Given the description of an element on the screen output the (x, y) to click on. 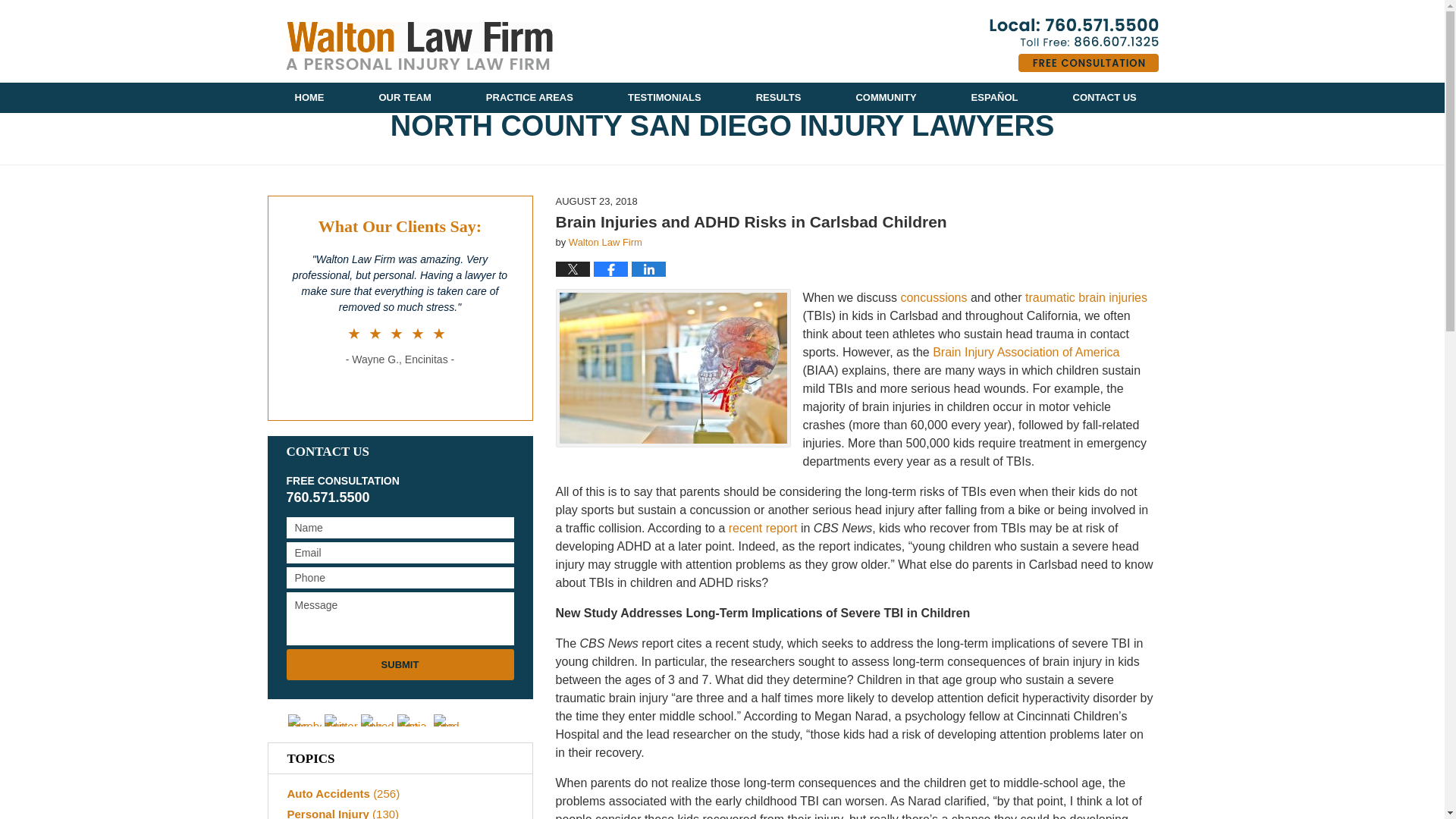
Twitter (341, 720)
Justia (414, 720)
TESTIMONIALS (664, 97)
COMMUNITY (885, 97)
LinkedIn (377, 720)
PRACTICE AREAS (528, 97)
Facebook (304, 720)
Brain Injury Association of America (1024, 351)
Walton Law Firm (605, 242)
Feed (450, 720)
